Given the description of an element on the screen output the (x, y) to click on. 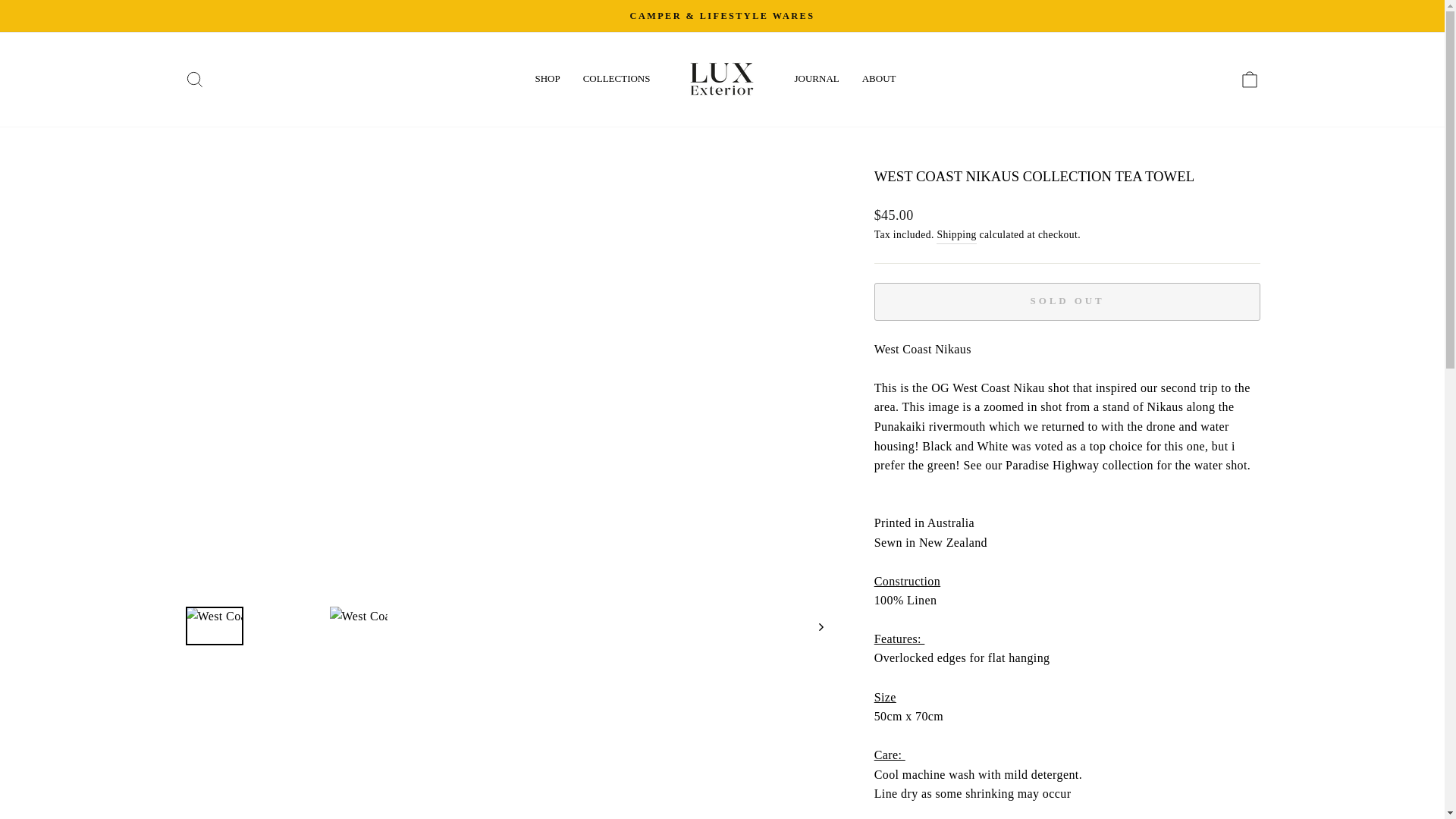
SEARCH (194, 79)
SHOP (546, 79)
